Given the description of an element on the screen output the (x, y) to click on. 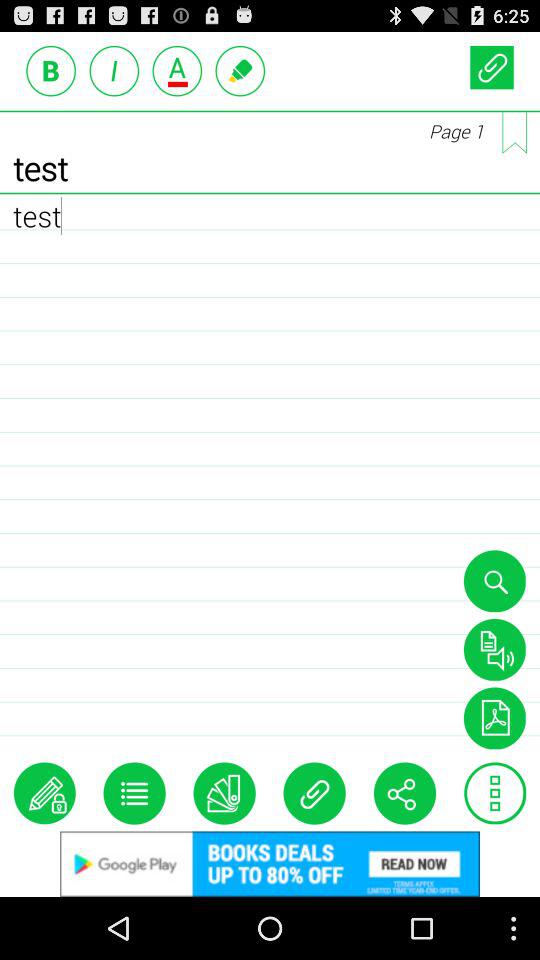
go to search (494, 581)
